Given the description of an element on the screen output the (x, y) to click on. 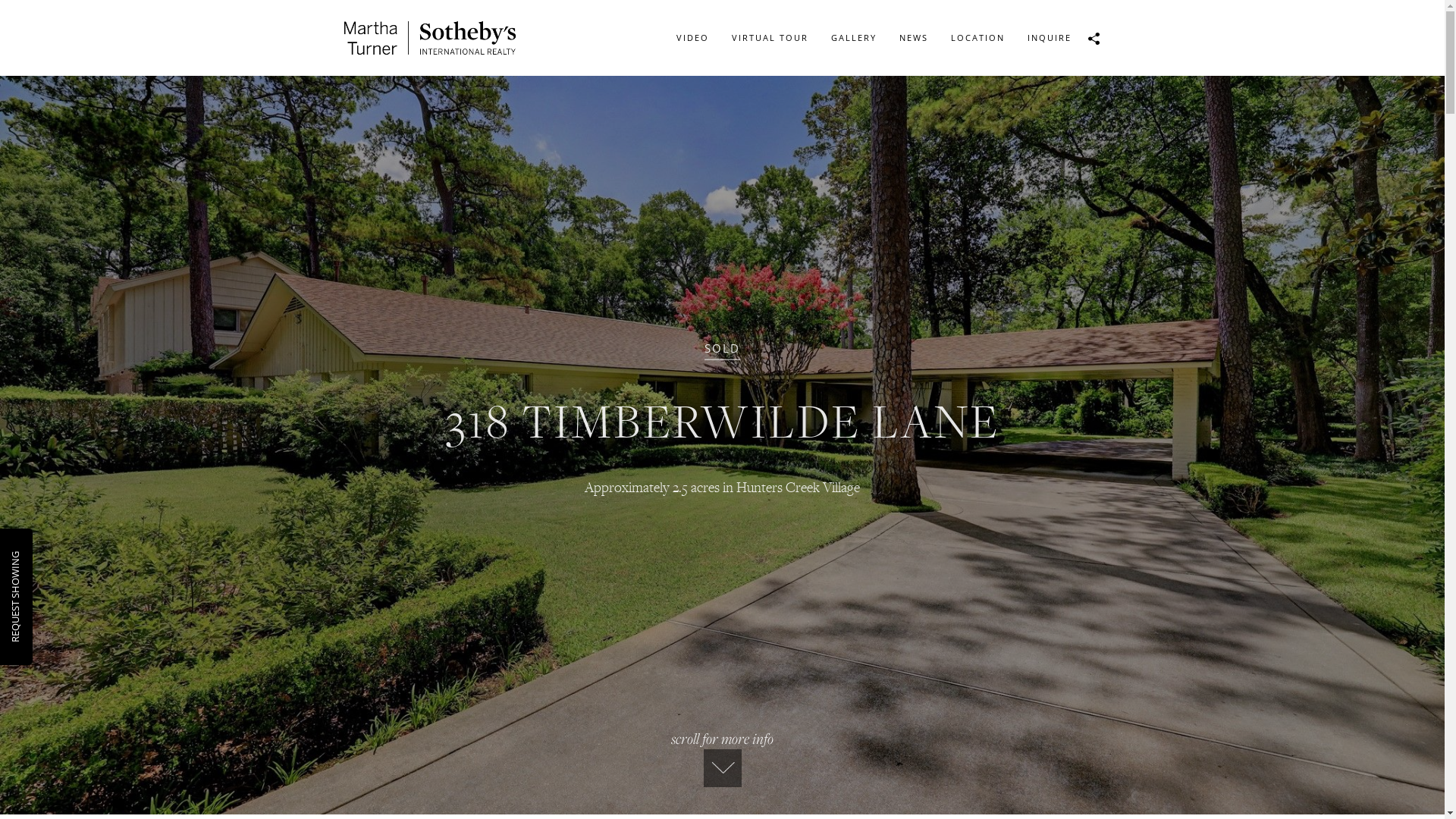
scroll for more info Element type: text (721, 757)
INQUIRE Element type: text (1049, 37)
VIDEO Element type: text (691, 37)
REQUEST SHOWING Element type: text (53, 557)
NEWS Element type: text (912, 37)
VIRTUAL TOUR Element type: text (769, 37)
GALLERY Element type: text (853, 37)
LOCATION Element type: text (976, 37)
